Given the description of an element on the screen output the (x, y) to click on. 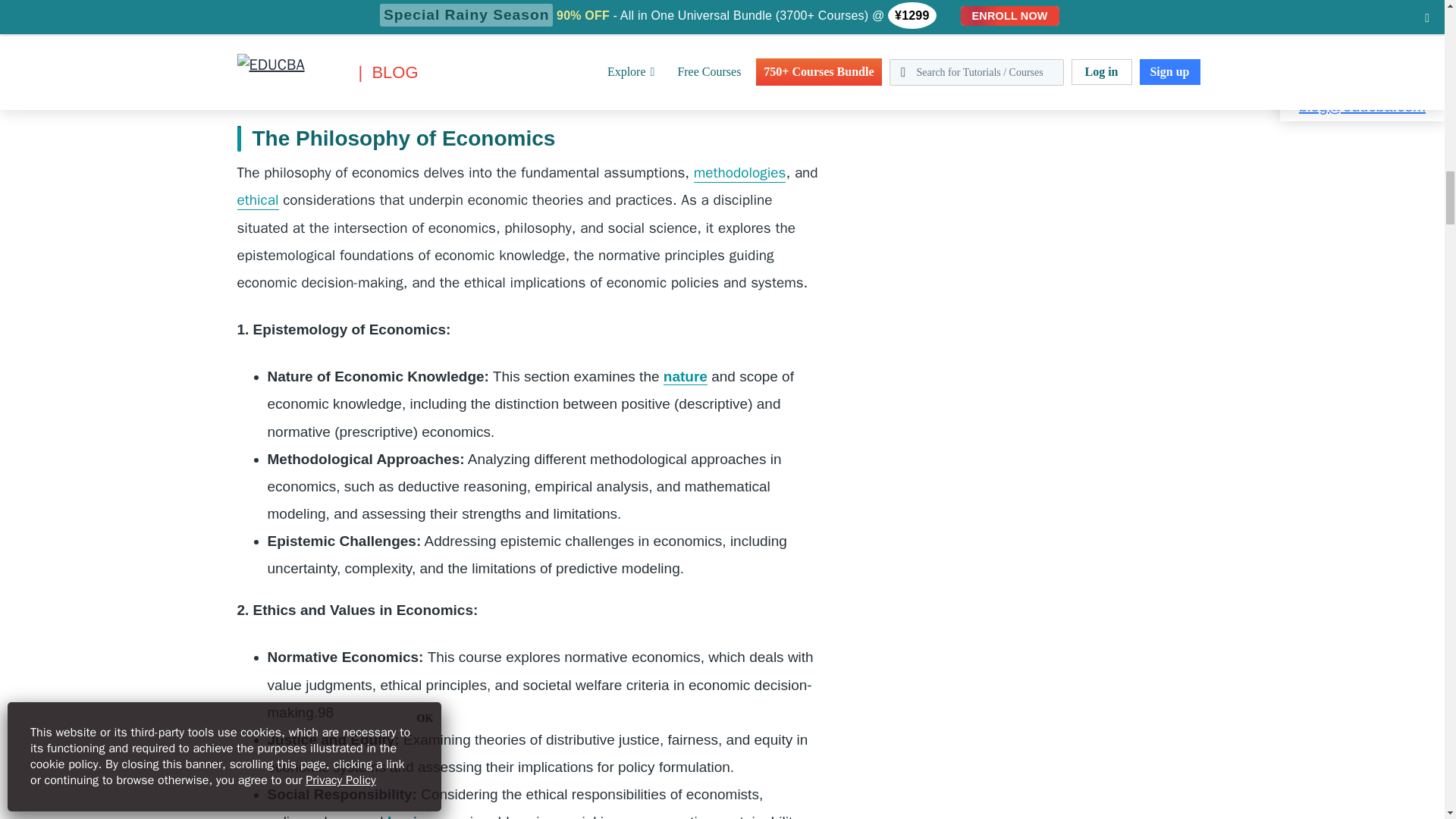
sociology (300, 43)
economics (602, 15)
methodologies (740, 172)
